Given the description of an element on the screen output the (x, y) to click on. 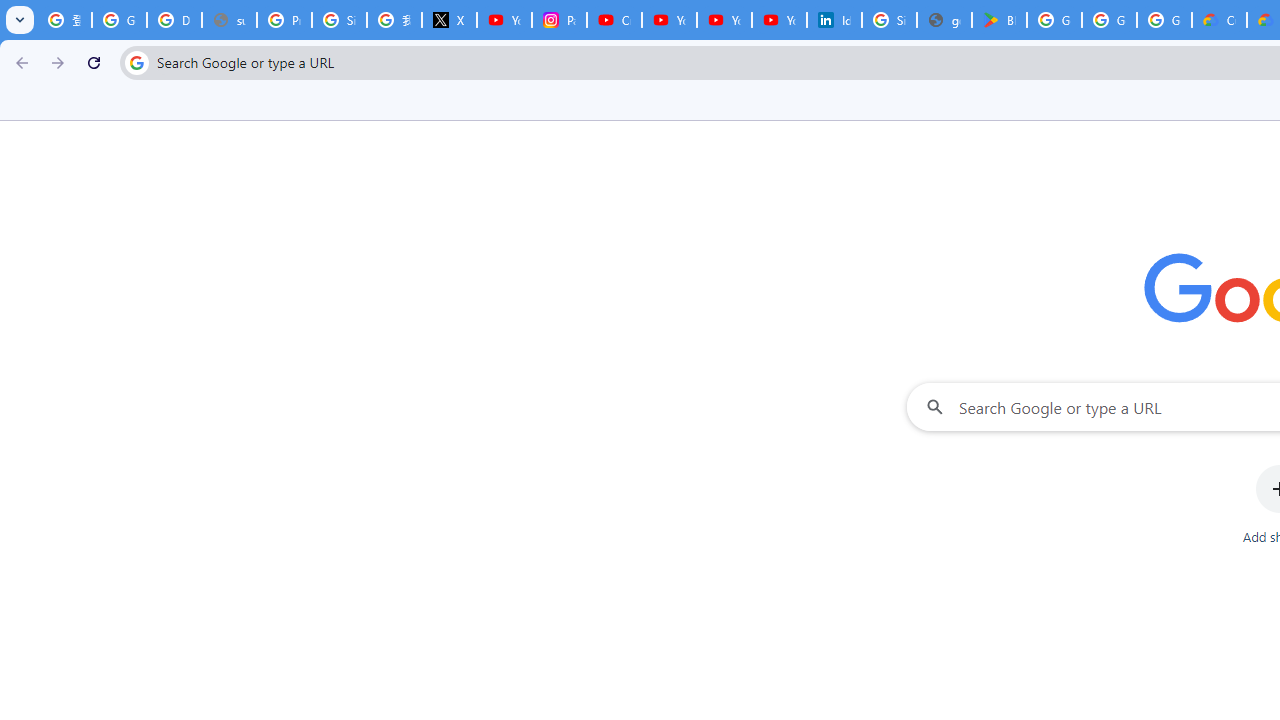
Sign in - Google Accounts (339, 20)
Customer Care | Google Cloud (1218, 20)
Privacy Help Center - Policies Help (284, 20)
Google Workspace - Specific Terms (1108, 20)
